Given the description of an element on the screen output the (x, y) to click on. 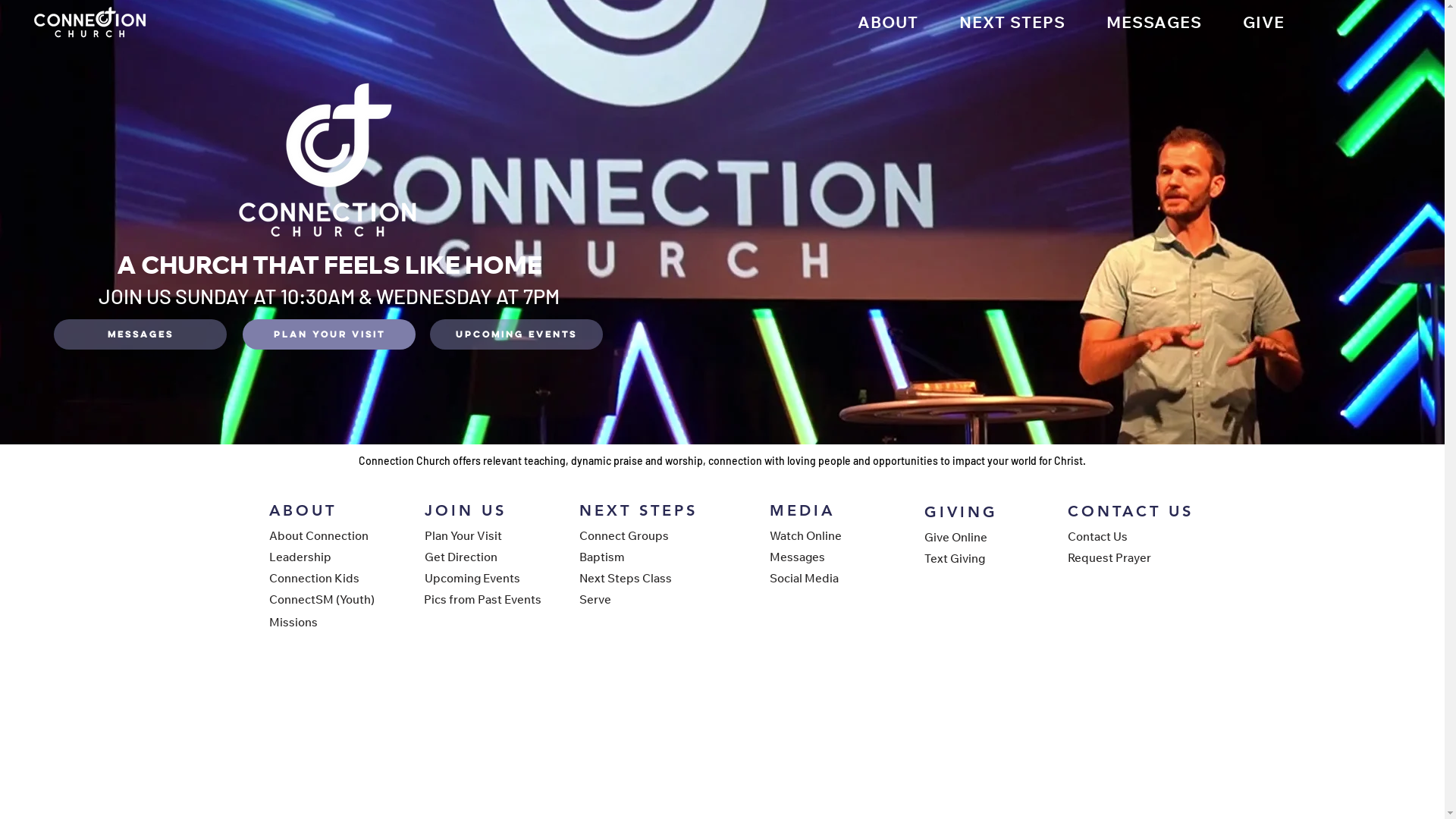
PLAN YOUR VISIT Element type: text (328, 334)
Messages Element type: text (822, 556)
Watch Online Element type: text (822, 535)
Contact Us Element type: text (1121, 535)
NEXT STEPS Element type: text (1011, 21)
Upcoming Events Element type: text (478, 577)
ConnectSM (Youth) Element type: text (322, 598)
Social Media Element type: text (822, 577)
Get Direction Element type: text (478, 556)
Connection Kids Element type: text (322, 577)
ABOUT Element type: text (887, 21)
GIVE Element type: text (1263, 21)
Next Steps Class Element type: text (633, 577)
Plan Your Visit Element type: text (478, 535)
Serve Element type: text (633, 598)
Upcoming Events Element type: text (515, 334)
Text Giving Element type: text (977, 557)
Leadership Element type: text (322, 556)
Pics from Past Events Element type: text (482, 598)
Messages Element type: text (139, 334)
Request Prayer Element type: text (1121, 557)
Give Online Element type: text (977, 536)
MESSAGES Element type: text (1153, 21)
About Connection Element type: text (322, 535)
Connect Groups Element type: text (633, 535)
Baptism Element type: text (633, 556)
Missions Element type: text (322, 621)
